Given the description of an element on the screen output the (x, y) to click on. 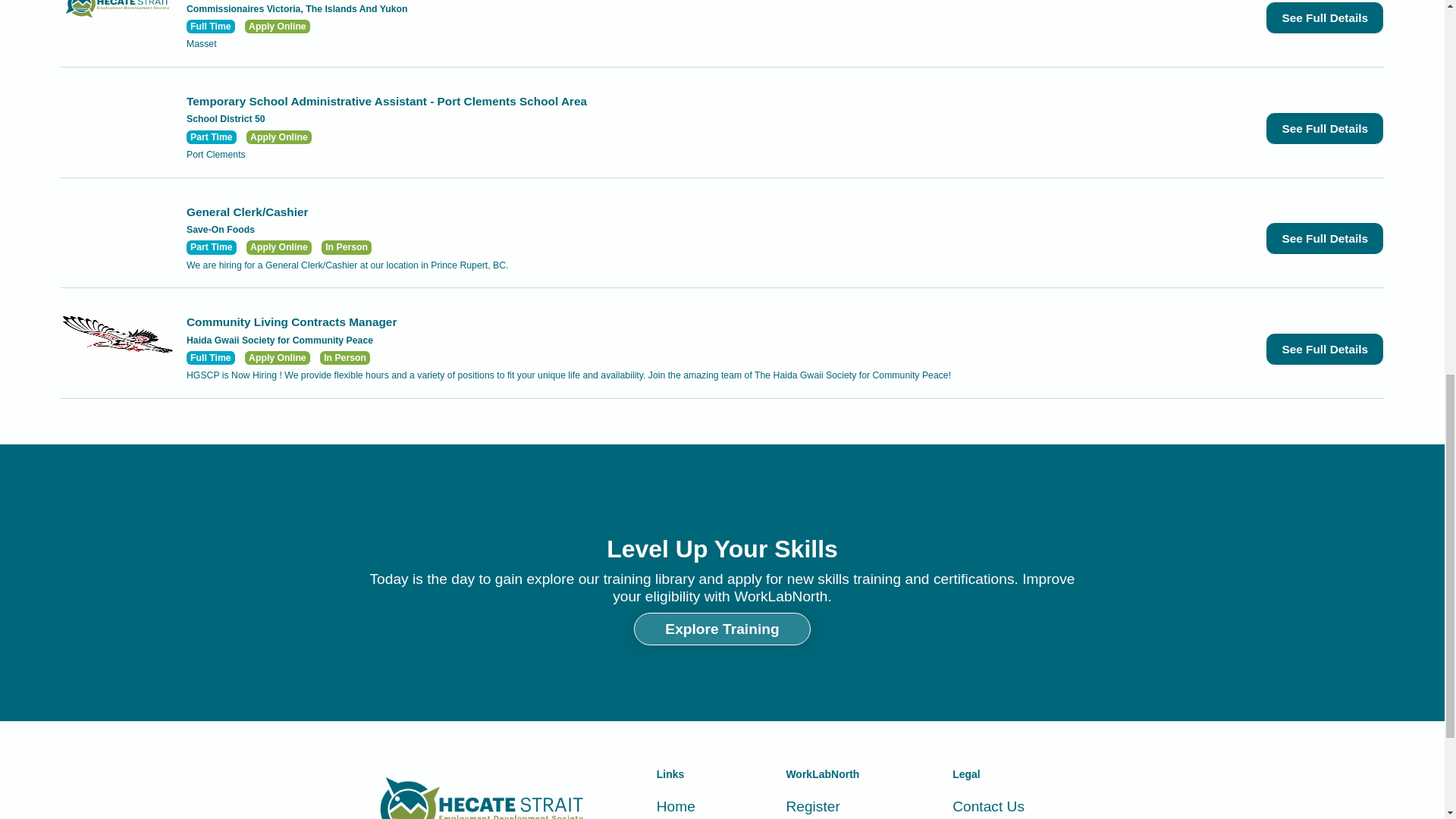
See Full Details (1324, 17)
Explore Training (721, 628)
See Full Details (1324, 128)
See Full Details (1324, 237)
See Full Details (1324, 348)
